Given the description of an element on the screen output the (x, y) to click on. 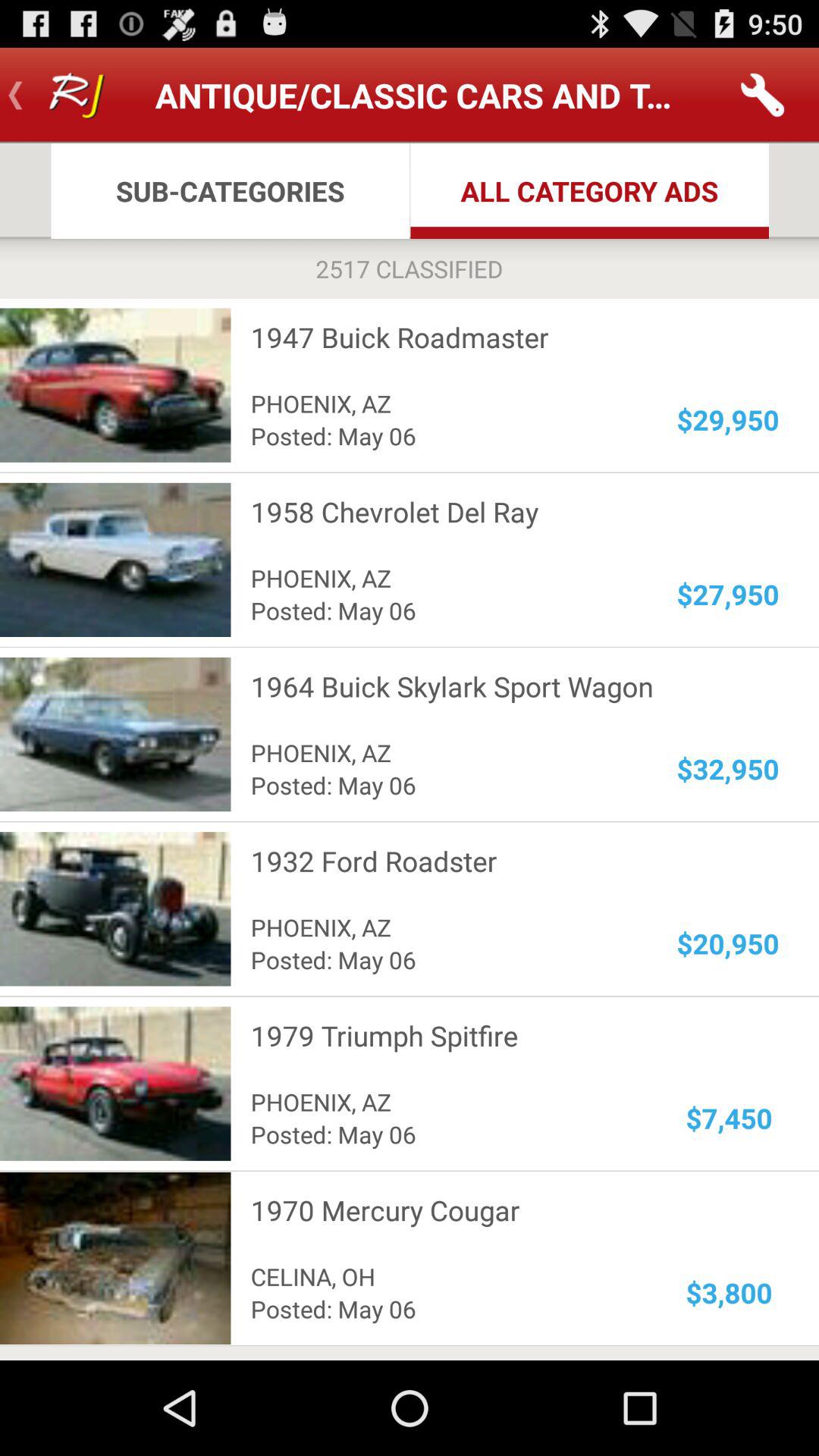
select app next to the celina, oh (729, 1292)
